Given the description of an element on the screen output the (x, y) to click on. 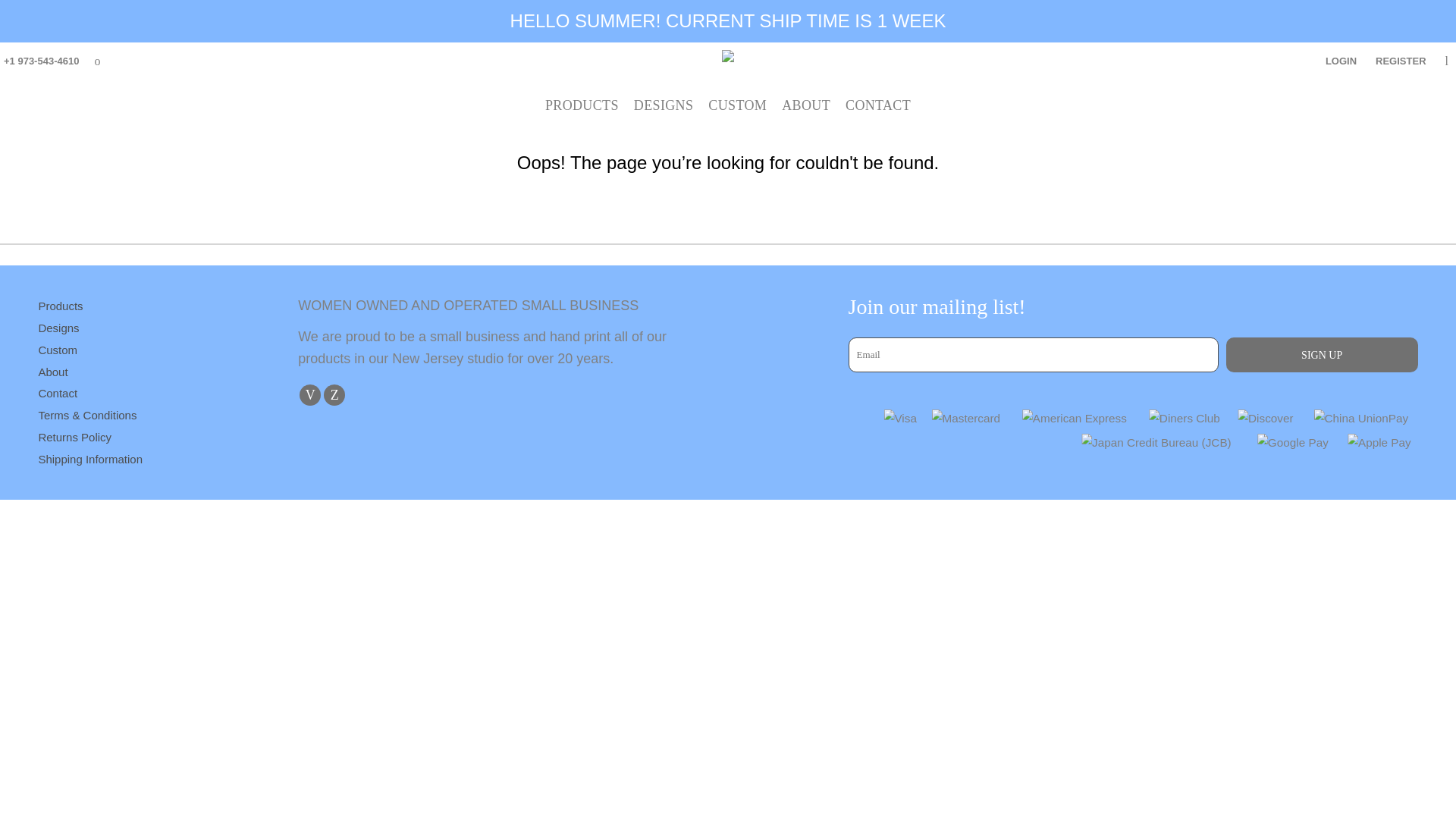
PRODUCTS (581, 103)
LOGIN (1340, 60)
as (10, 17)
REGISTER (1400, 60)
Products (59, 305)
CONTACT (878, 103)
Contact (57, 392)
Designs (57, 327)
ABOUT (805, 103)
Custom (57, 349)
Returns Policy (74, 436)
Shipping Information (89, 459)
DESIGNS (663, 103)
About (51, 371)
CUSTOM (737, 103)
